Given the description of an element on the screen output the (x, y) to click on. 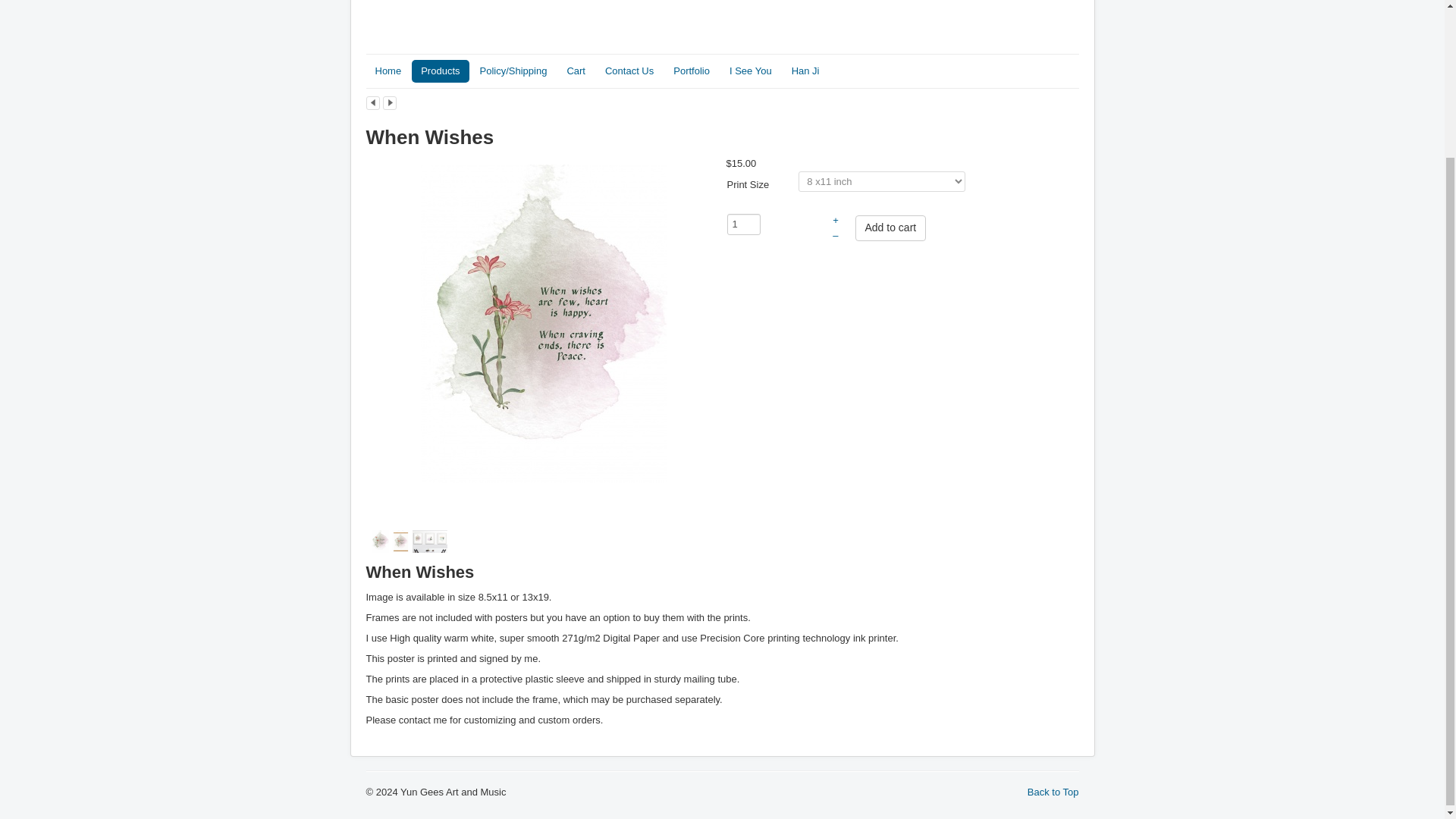
1 (743, 224)
Home (387, 70)
Products (440, 70)
Cart (575, 70)
Add to cart (891, 227)
Han Ji (805, 70)
Portfolio (691, 70)
Add to cart (891, 227)
I See You (750, 70)
Contact Us (628, 70)
